Given the description of an element on the screen output the (x, y) to click on. 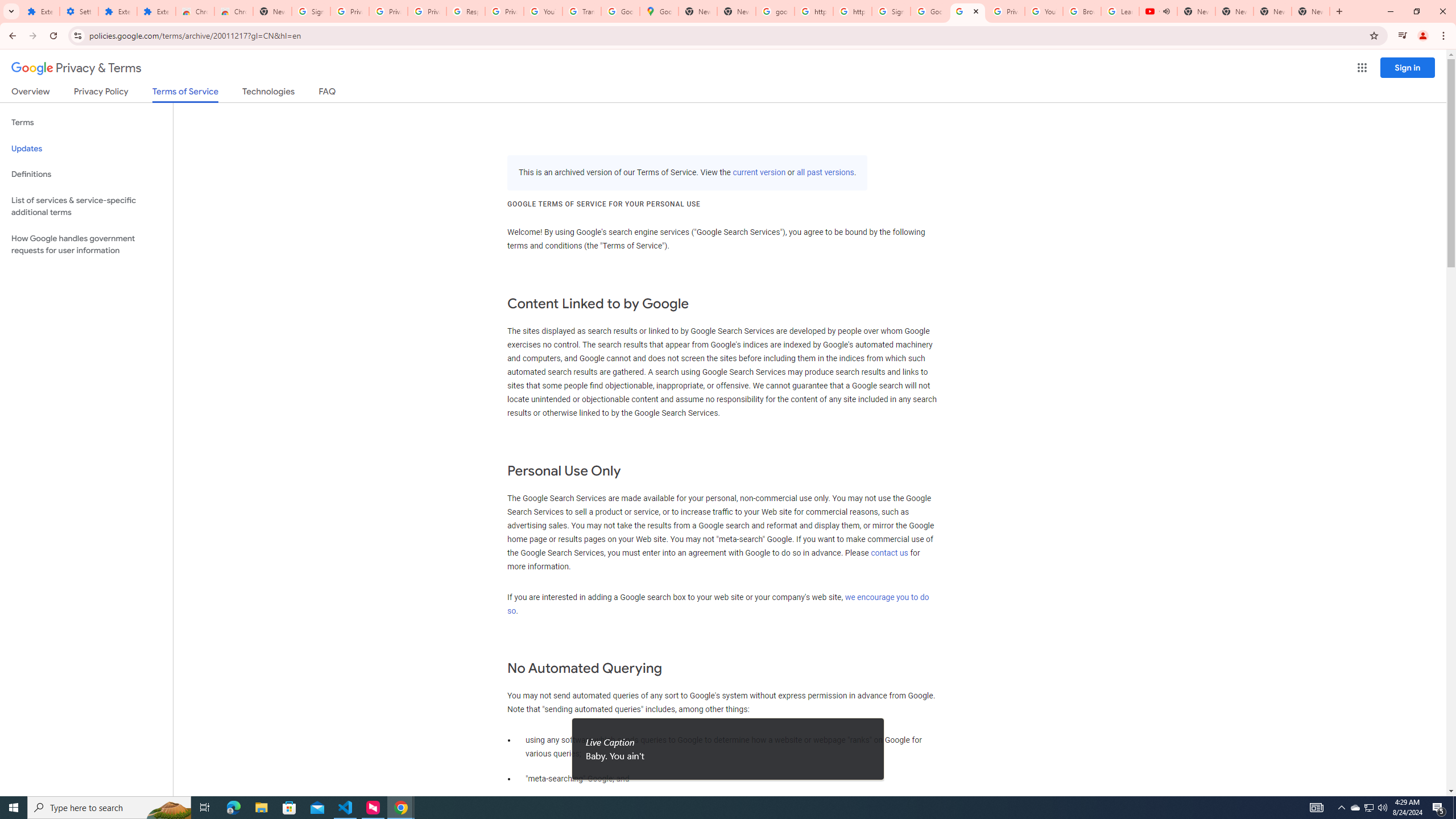
Extensions (117, 11)
Sign in - Google Accounts (310, 11)
New Tab (1311, 11)
YouTube (1043, 11)
we encourage you to do so (717, 603)
all past versions (825, 172)
